Given the description of an element on the screen output the (x, y) to click on. 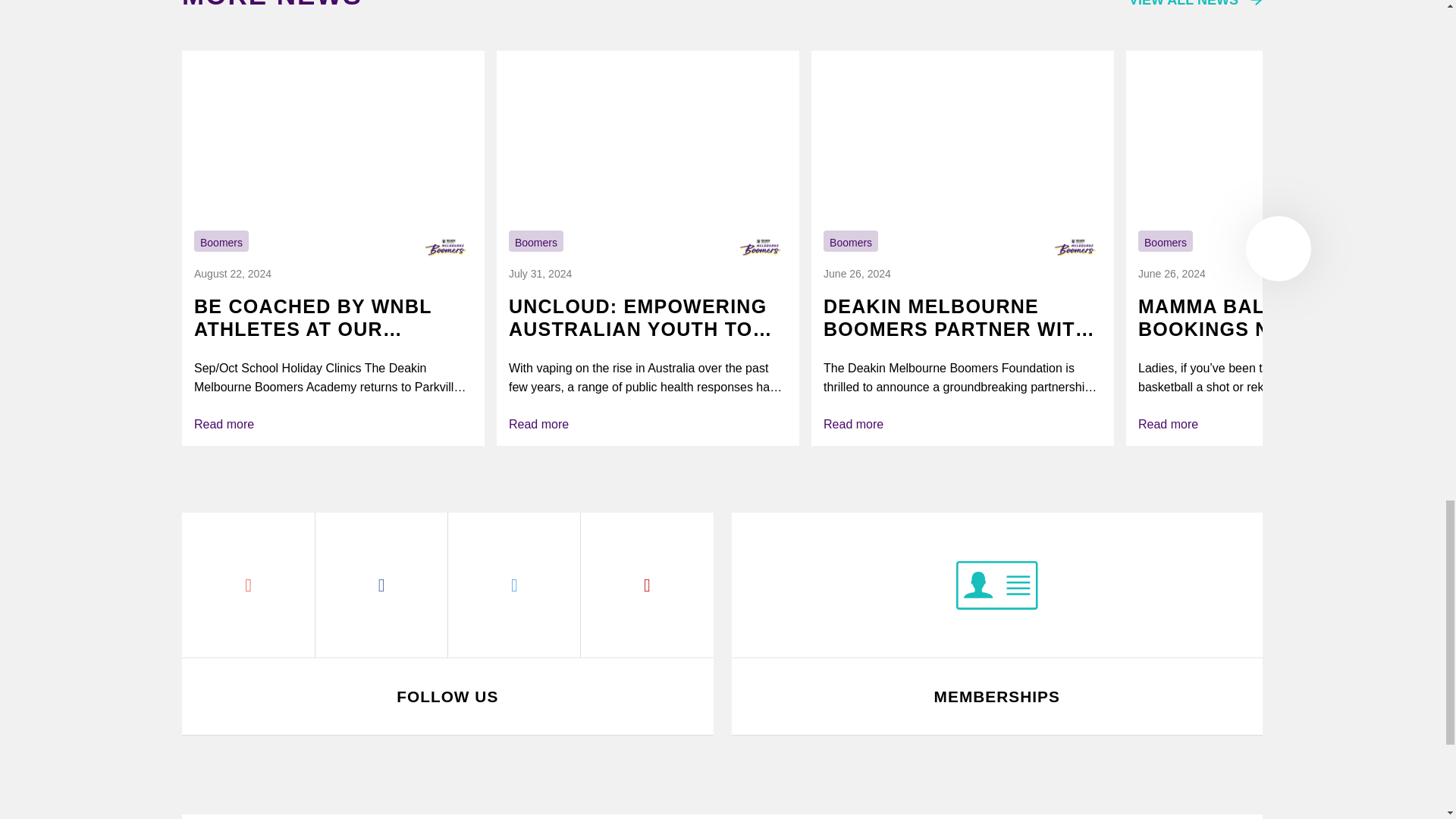
UNCLOUD: EMPOWERING AUSTRALIAN YOUTH TO COMBAT VAPING (647, 317)
VIEW ALL NEWS (1195, 5)
Read more (963, 424)
Read more (647, 424)
Read more (332, 424)
Read more (1277, 424)
MAMMA BALL TERM 3 BOOKINGS NOW OPEN (1277, 317)
